Given the description of an element on the screen output the (x, y) to click on. 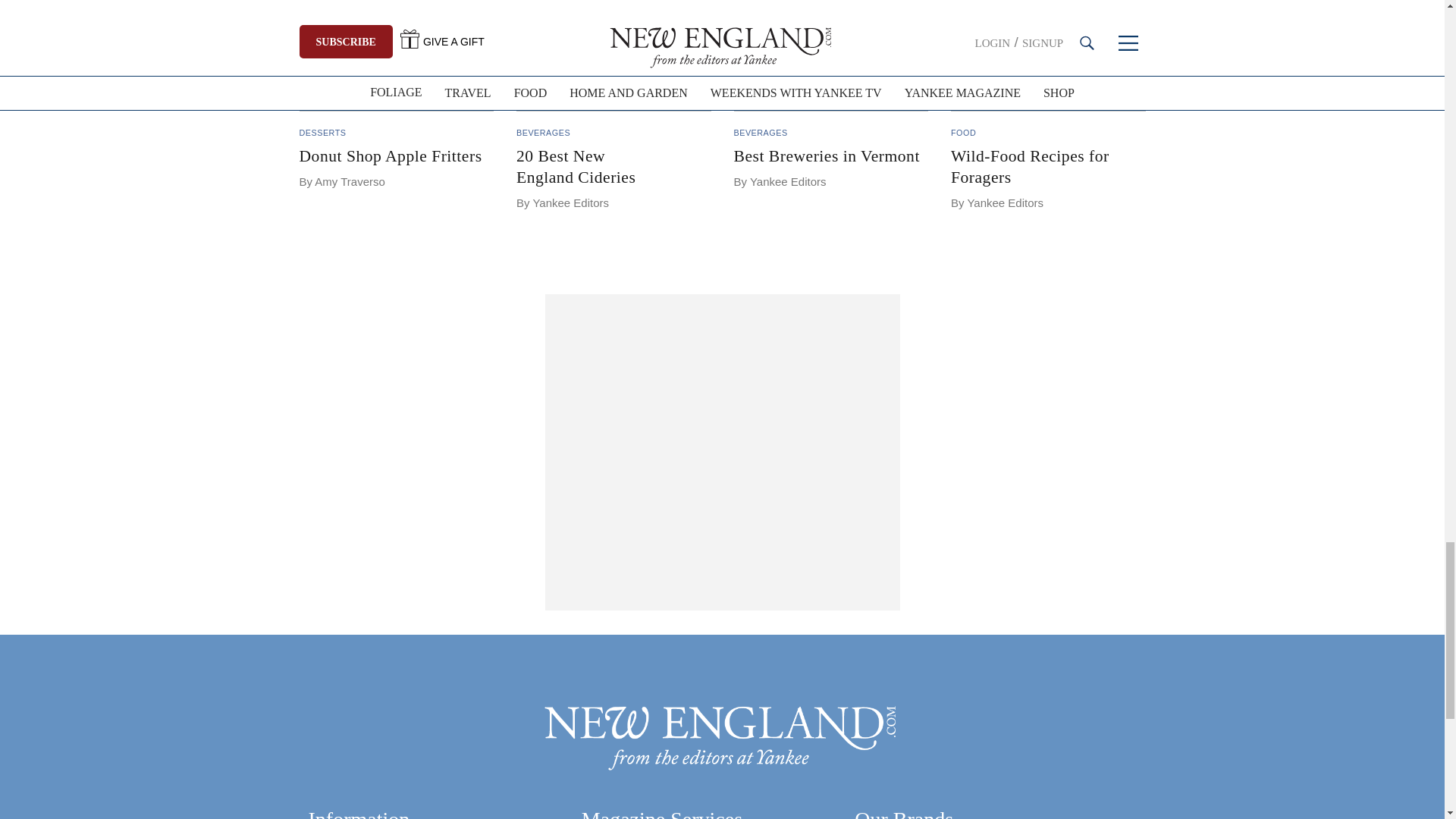
new-england-logo-footer-white (721, 736)
